Given the description of an element on the screen output the (x, y) to click on. 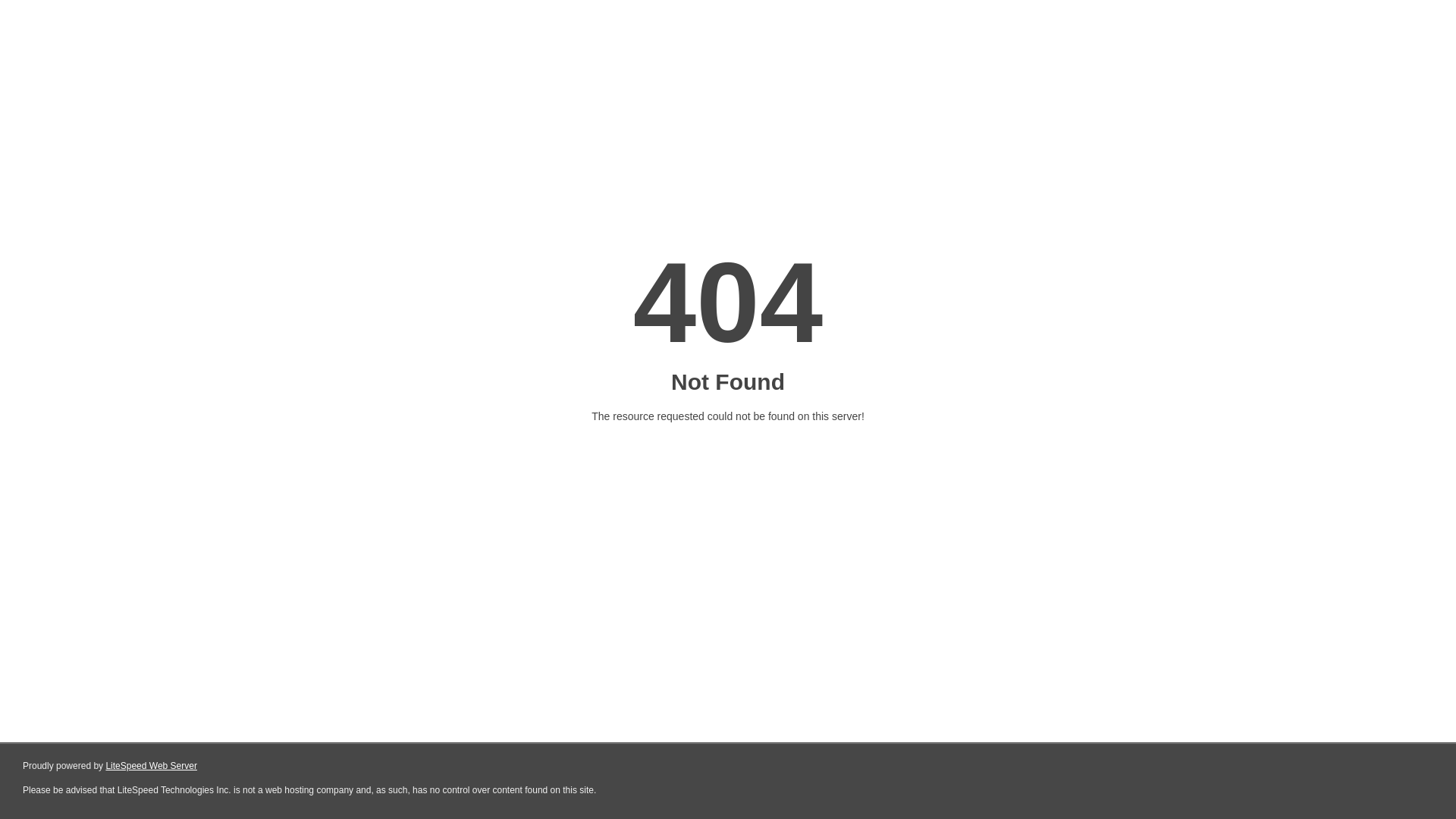
LiteSpeed Web Server Element type: text (151, 765)
